Given the description of an element on the screen output the (x, y) to click on. 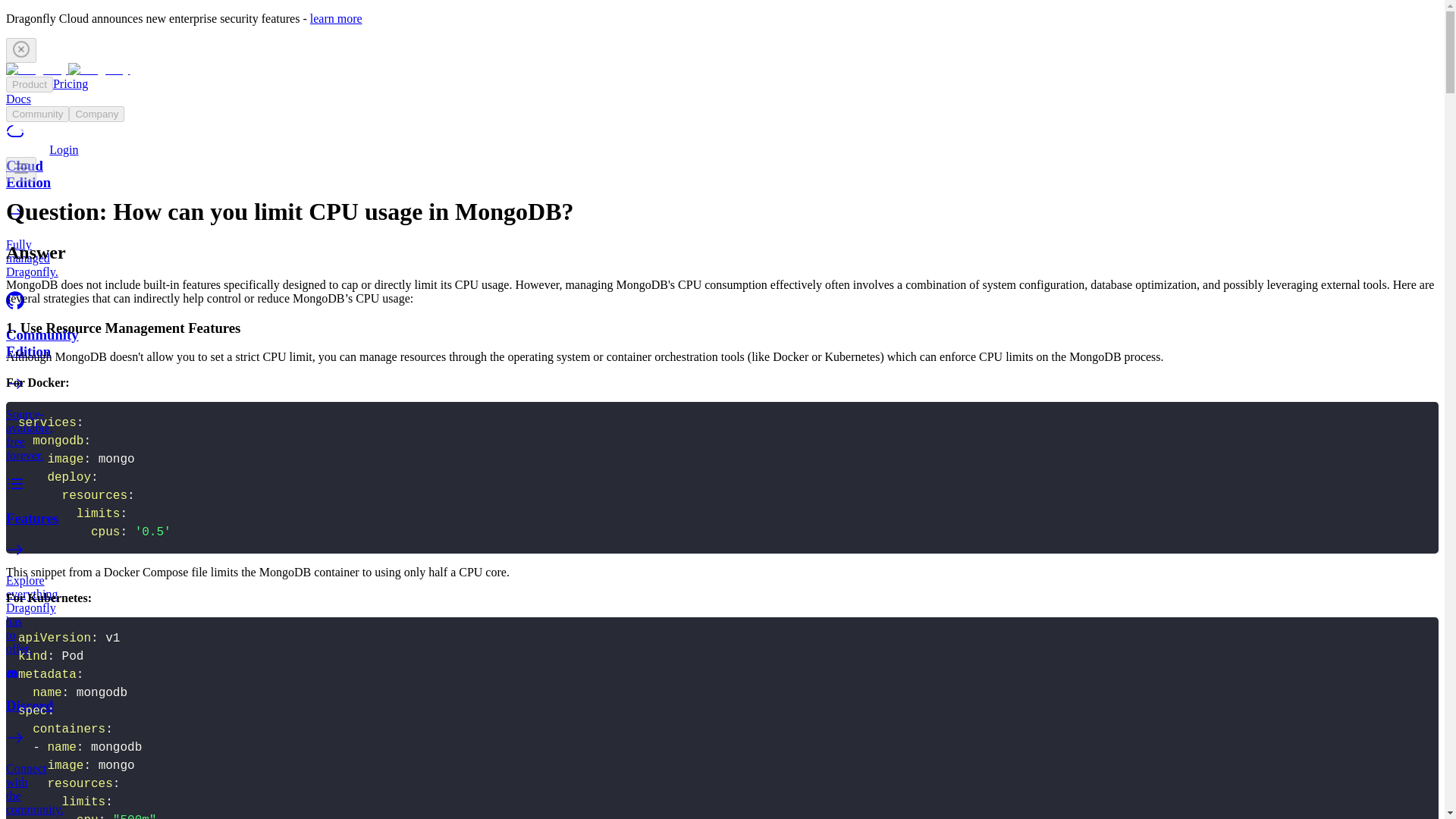
Product (28, 84)
Login (63, 149)
learn more (336, 18)
Community (36, 114)
Company (95, 114)
